Given the description of an element on the screen output the (x, y) to click on. 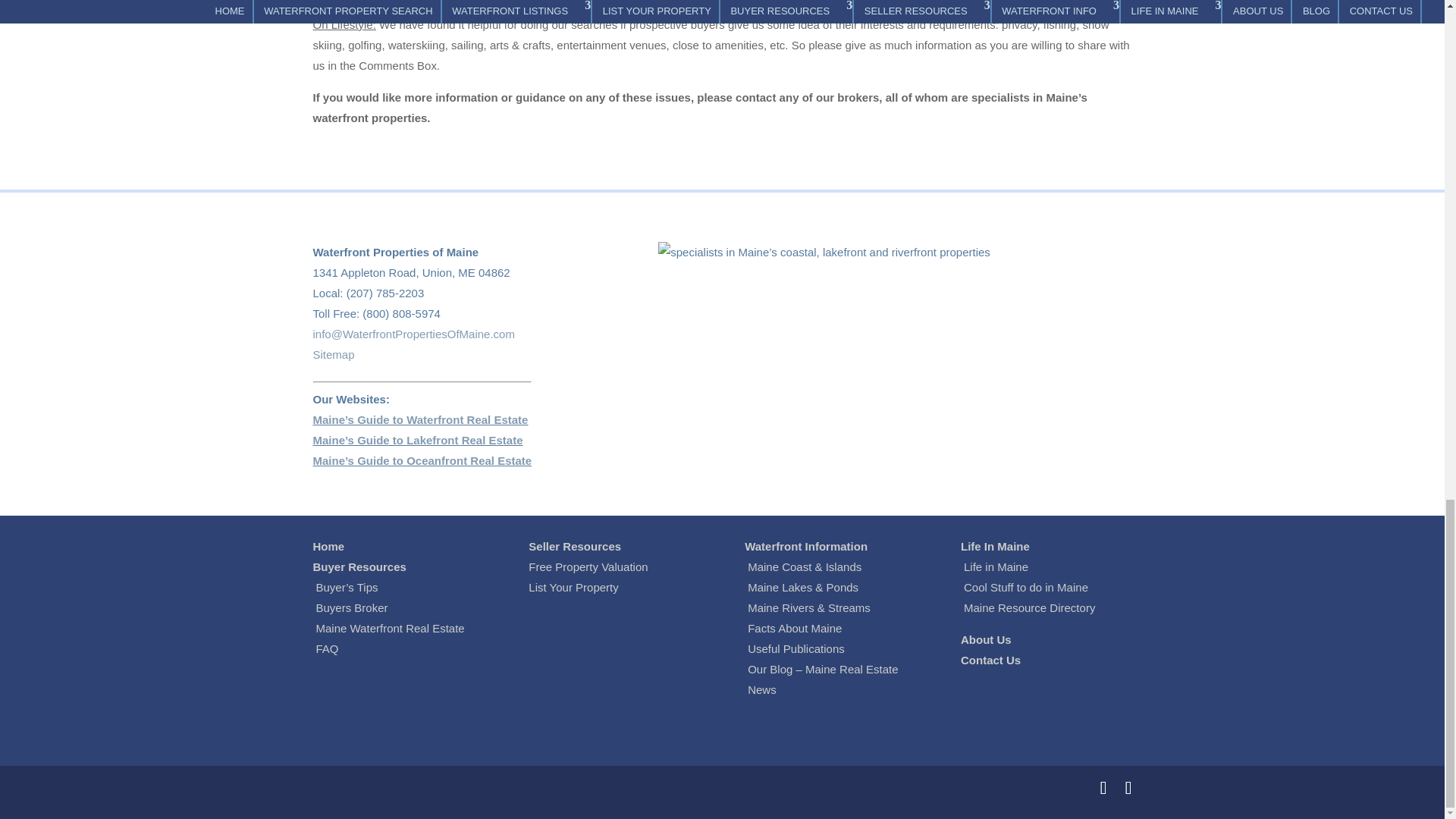
Home (328, 545)
Buyer Resources (359, 566)
Sitemap (333, 354)
